Given the description of an element on the screen output the (x, y) to click on. 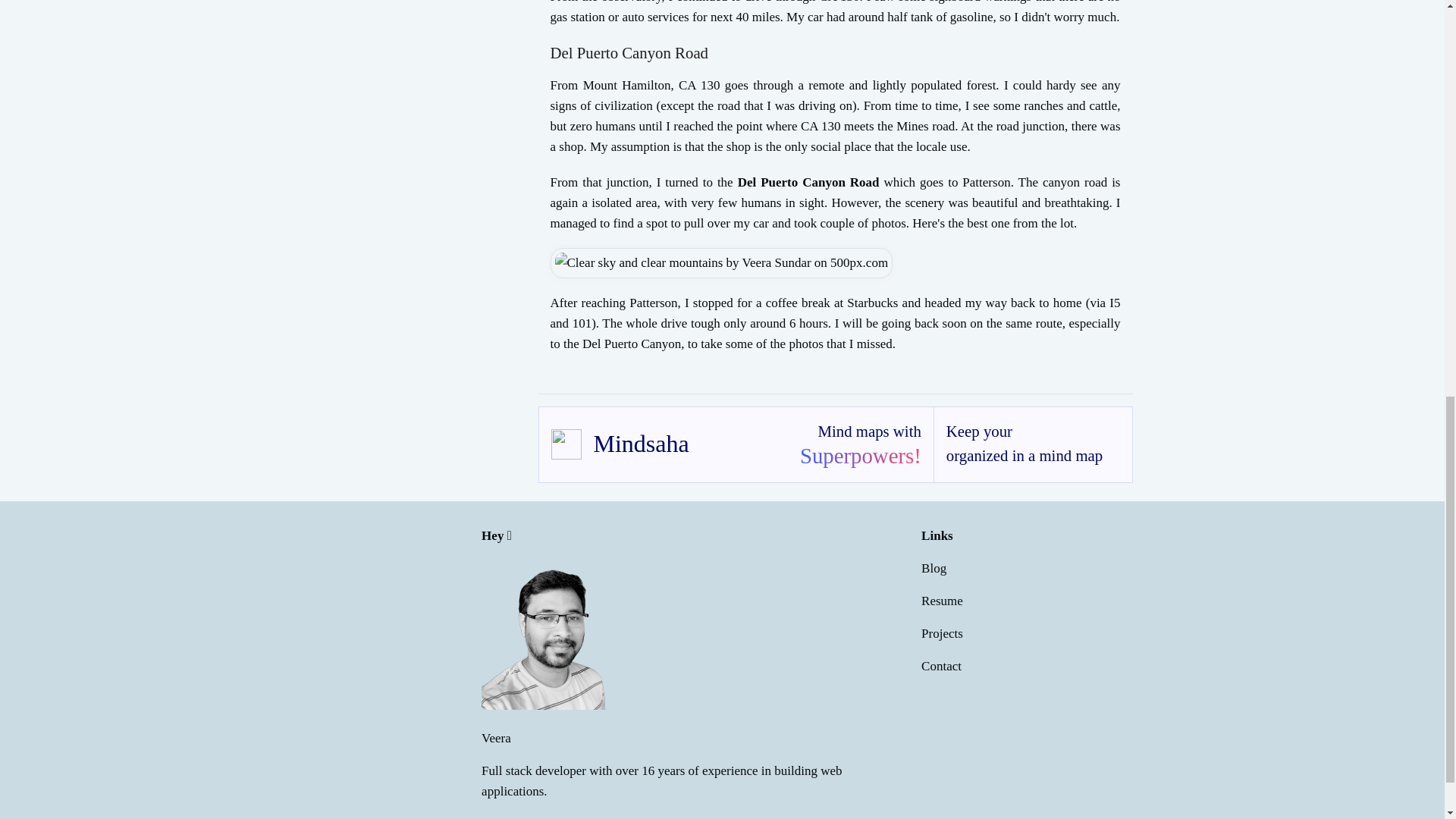
Resume (941, 600)
Blog (933, 568)
Projects (941, 633)
Contact (940, 666)
Veerasundar (557, 633)
